Given the description of an element on the screen output the (x, y) to click on. 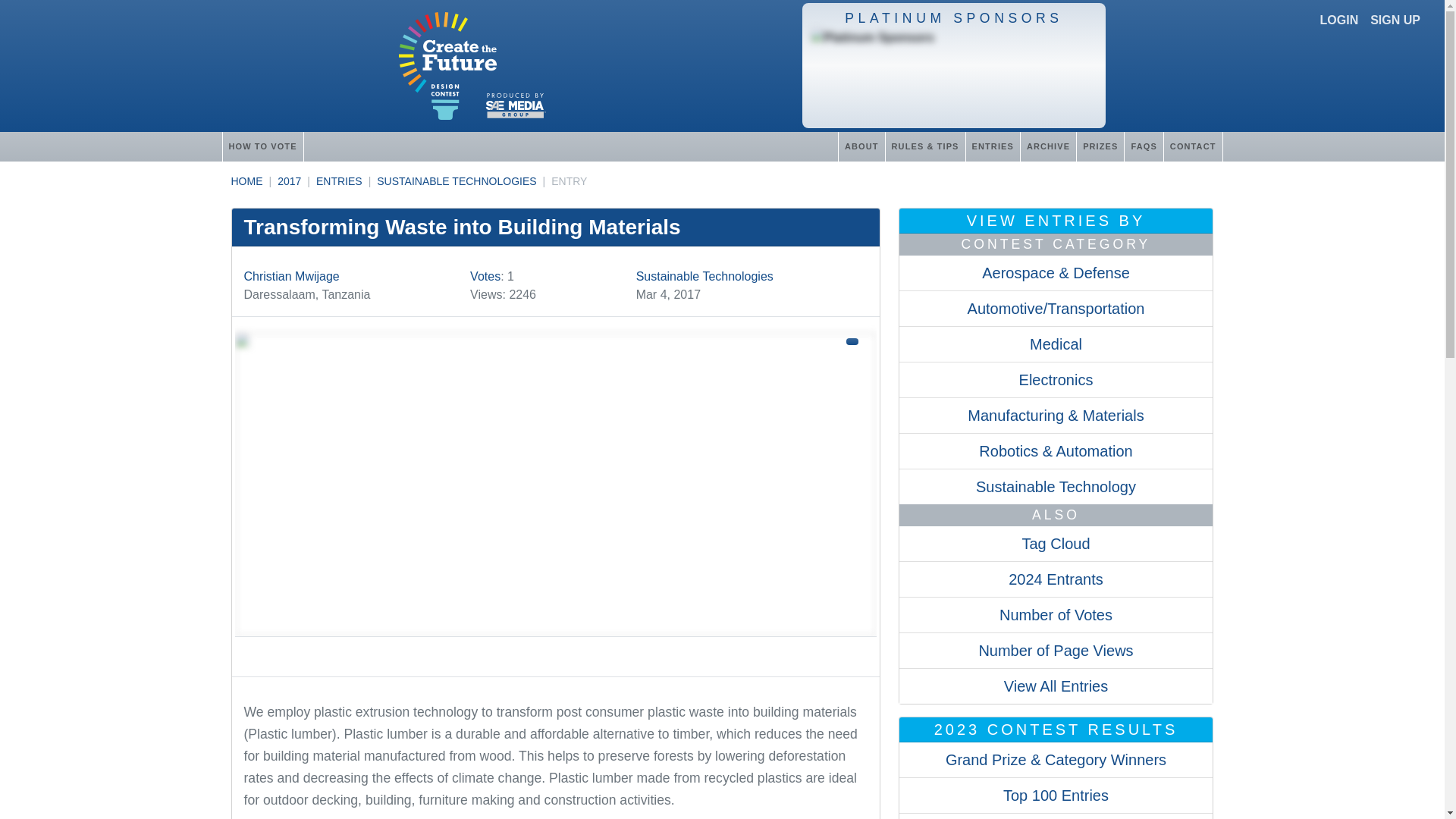
ARCHIVE (1047, 146)
Votes (485, 276)
PRIZES (1099, 146)
HOME (246, 181)
Sustainable Technologies (704, 276)
CONTACT (1193, 146)
ABOUT (861, 146)
SIGN UP (1395, 20)
Goto slide (555, 650)
Christian Mwijage (291, 276)
ENTRIES (338, 181)
FAQS (1142, 146)
SUSTAINABLE TECHNOLOGIES (456, 181)
HOW TO VOTE (261, 146)
ENTRIES (992, 146)
